Given the description of an element on the screen output the (x, y) to click on. 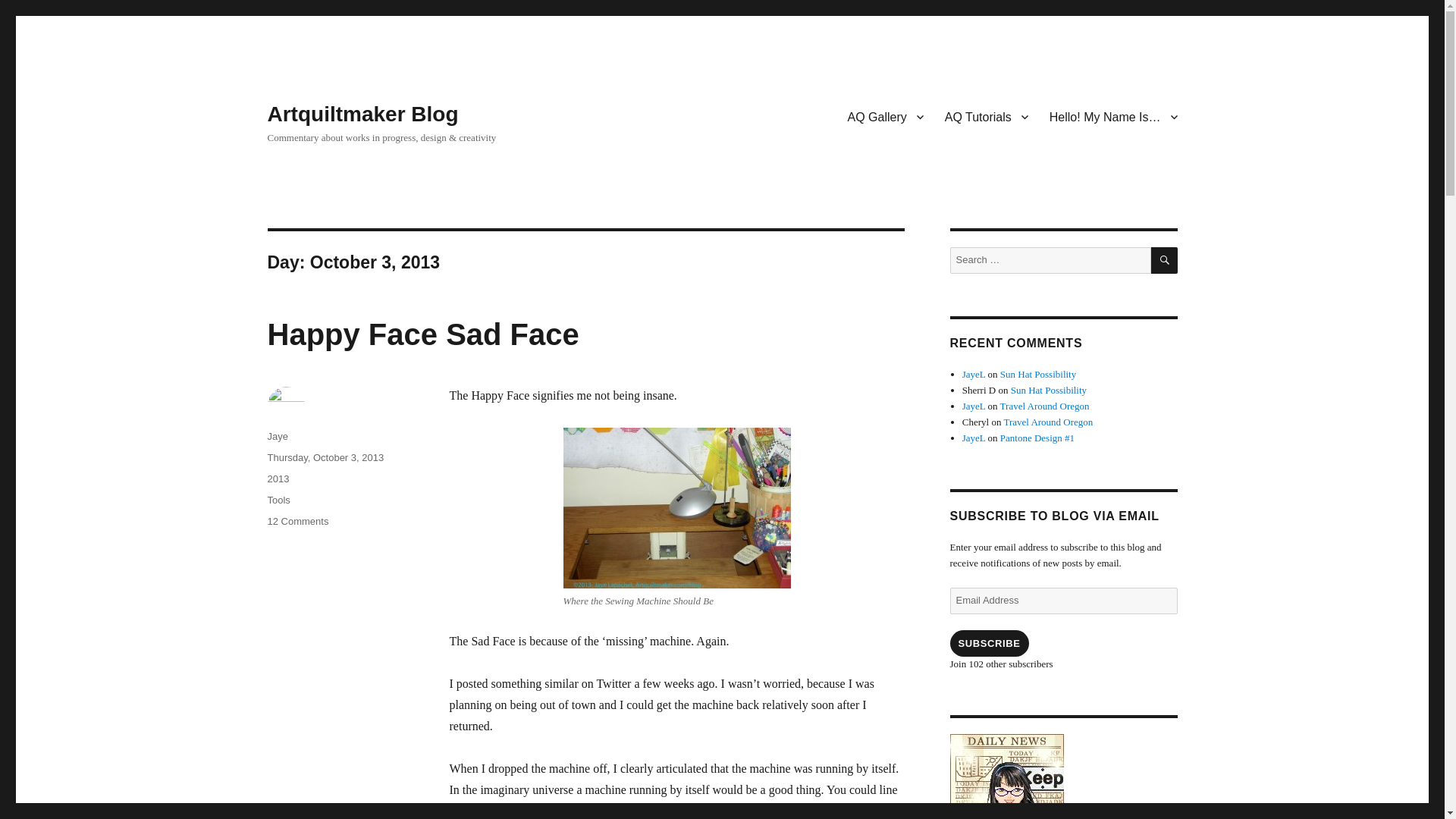
AQ Gallery (885, 116)
Jaye, Artquiltmaker.com (1062, 776)
Artquiltmaker Blog (362, 114)
